Given the description of an element on the screen output the (x, y) to click on. 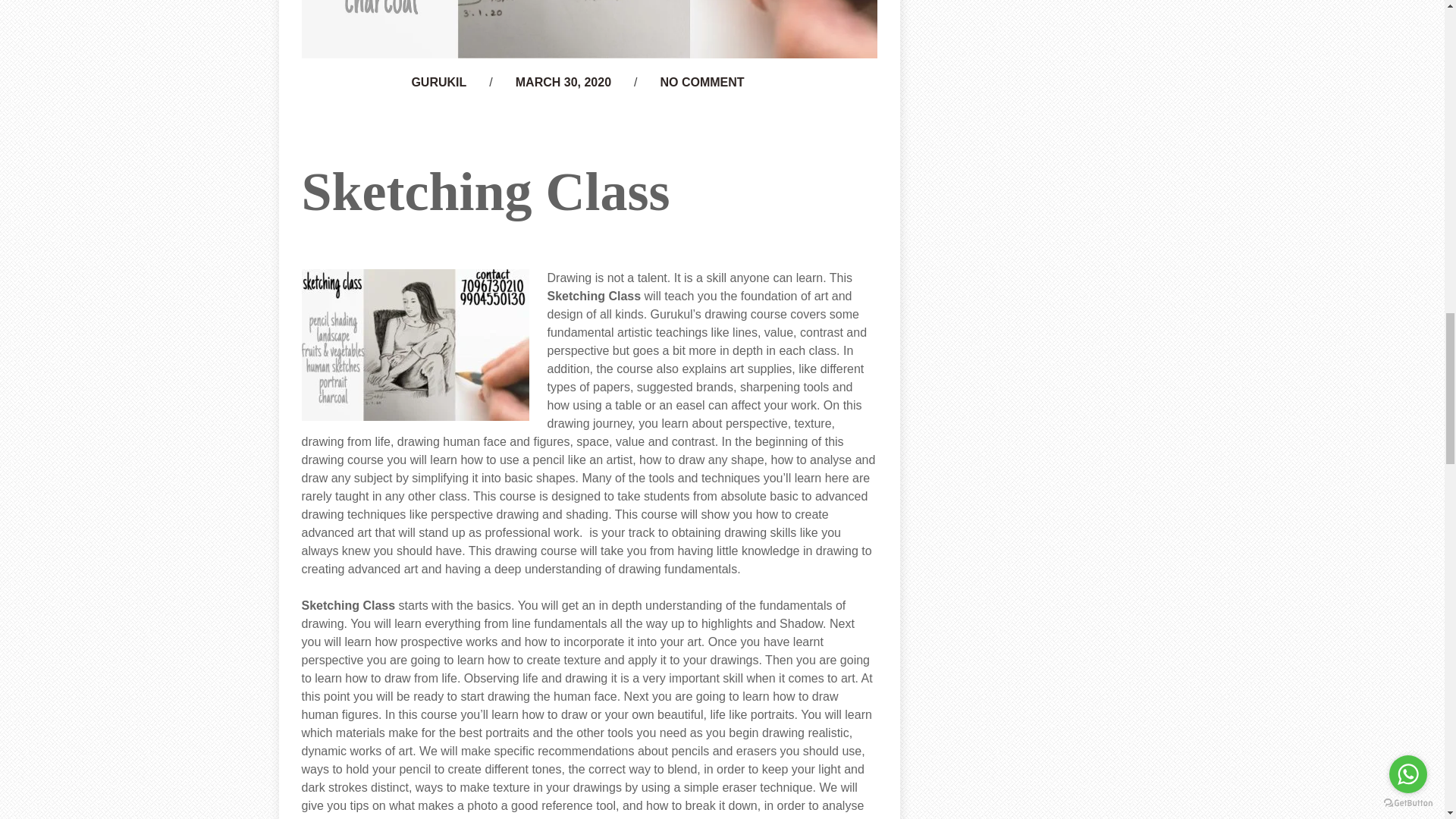
GURUKIL (437, 82)
NO COMMENT (701, 82)
MARCH 30, 2020 (563, 82)
